Given the description of an element on the screen output the (x, y) to click on. 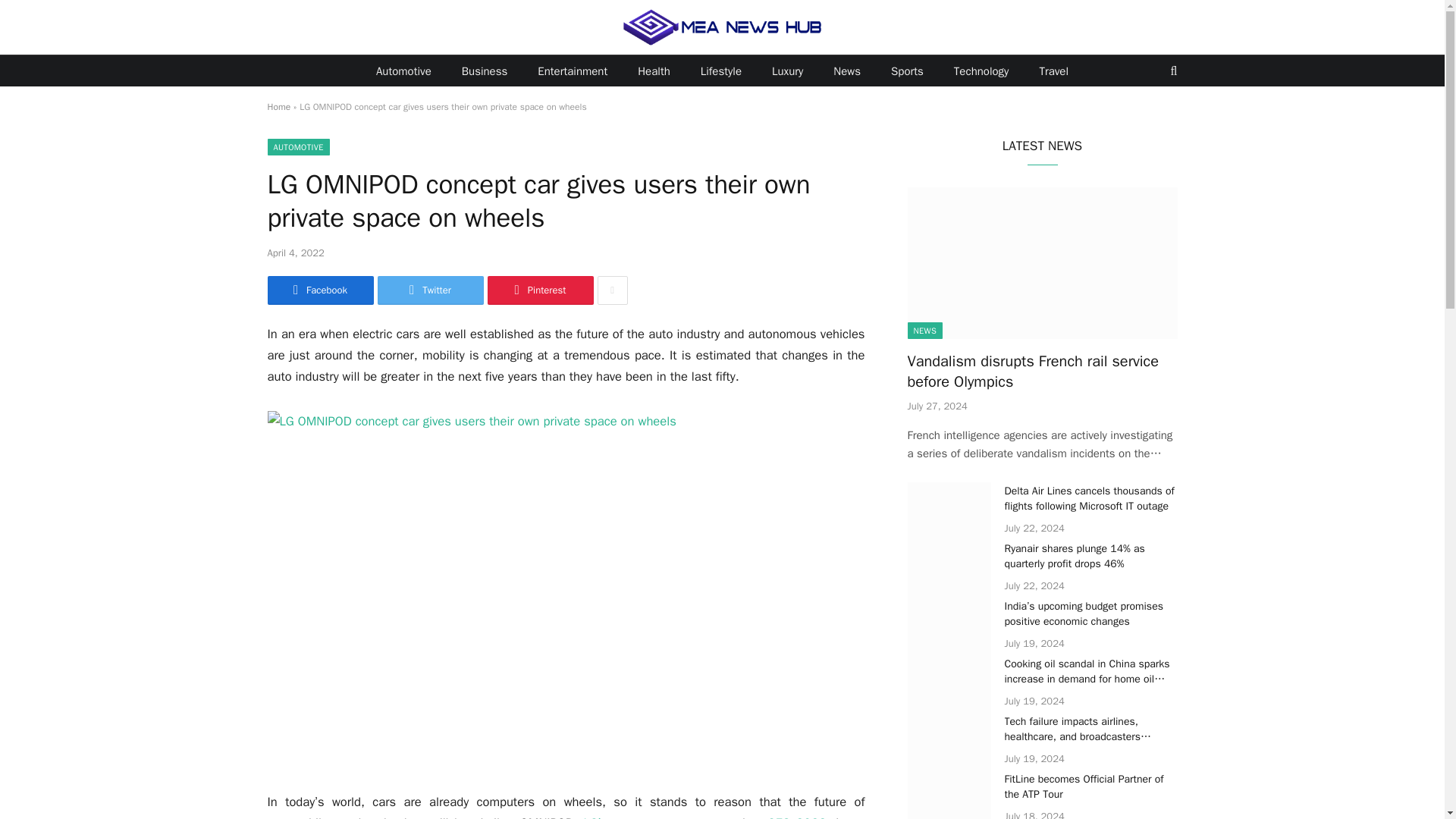
Business (484, 70)
Entertainment (572, 70)
Show More Social Sharing (611, 290)
Share on Facebook (319, 290)
News (847, 70)
Technology (982, 70)
AUTOMOTIVE (297, 146)
Facebook (319, 290)
Share on Pinterest (539, 290)
Pinterest (539, 290)
Luxury (787, 70)
Travel (1053, 70)
CES 2022 (796, 816)
Home (277, 106)
Lifestyle (721, 70)
